Given the description of an element on the screen output the (x, y) to click on. 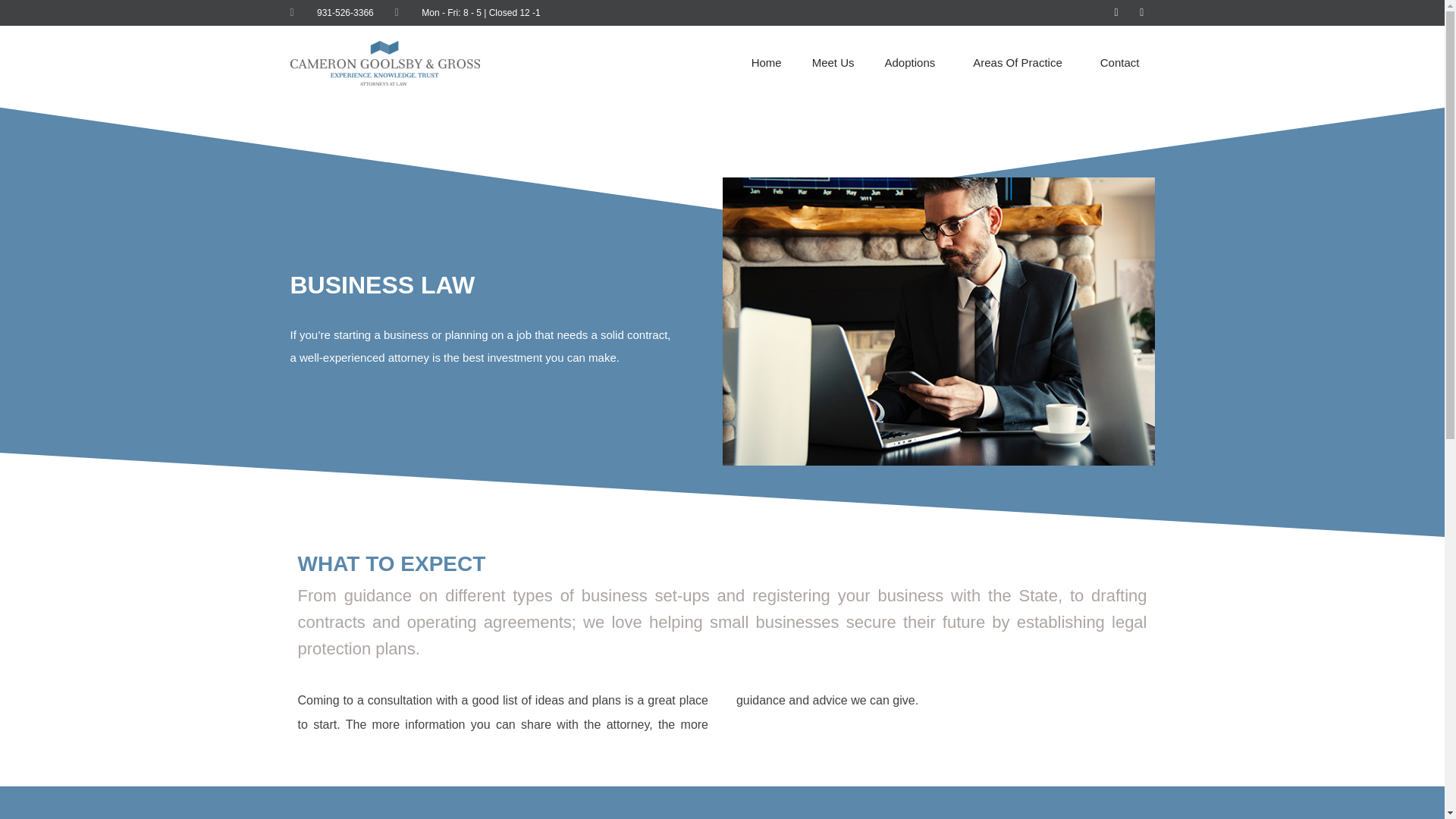
Adoptions (913, 62)
Areas Of Practice (1021, 62)
Meet Us (832, 62)
Contact (1119, 62)
Home (766, 62)
